Given the description of an element on the screen output the (x, y) to click on. 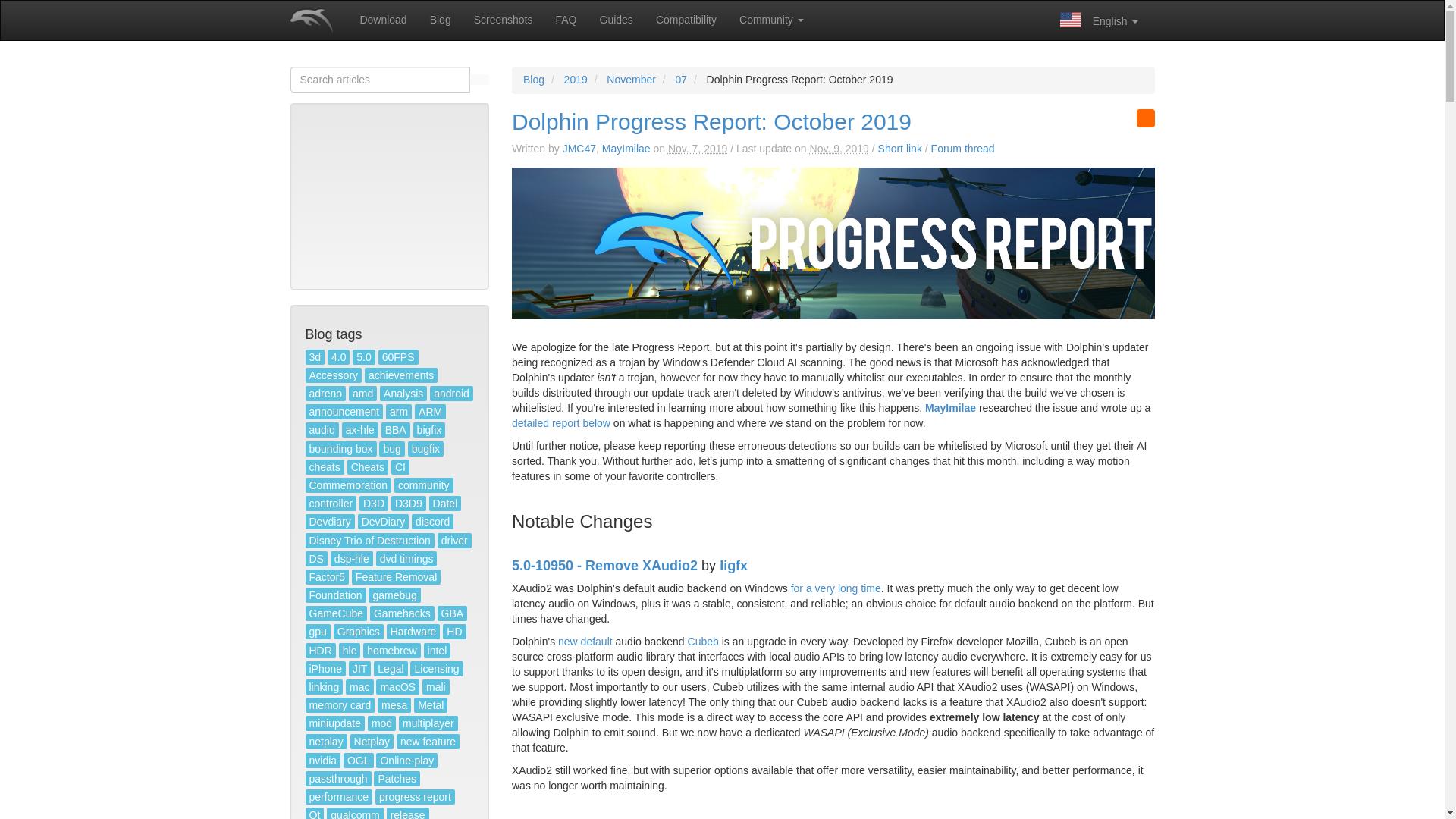
2019 (576, 79)
November (631, 79)
Show all MayImilae's entries (626, 148)
FAQ (566, 19)
Guides (616, 19)
Visit forum thread for this article (962, 148)
Dolphin Progress Report: October 2019 (711, 121)
Screenshots (503, 19)
07 (681, 79)
Blog (441, 19)
